Given the description of an element on the screen output the (x, y) to click on. 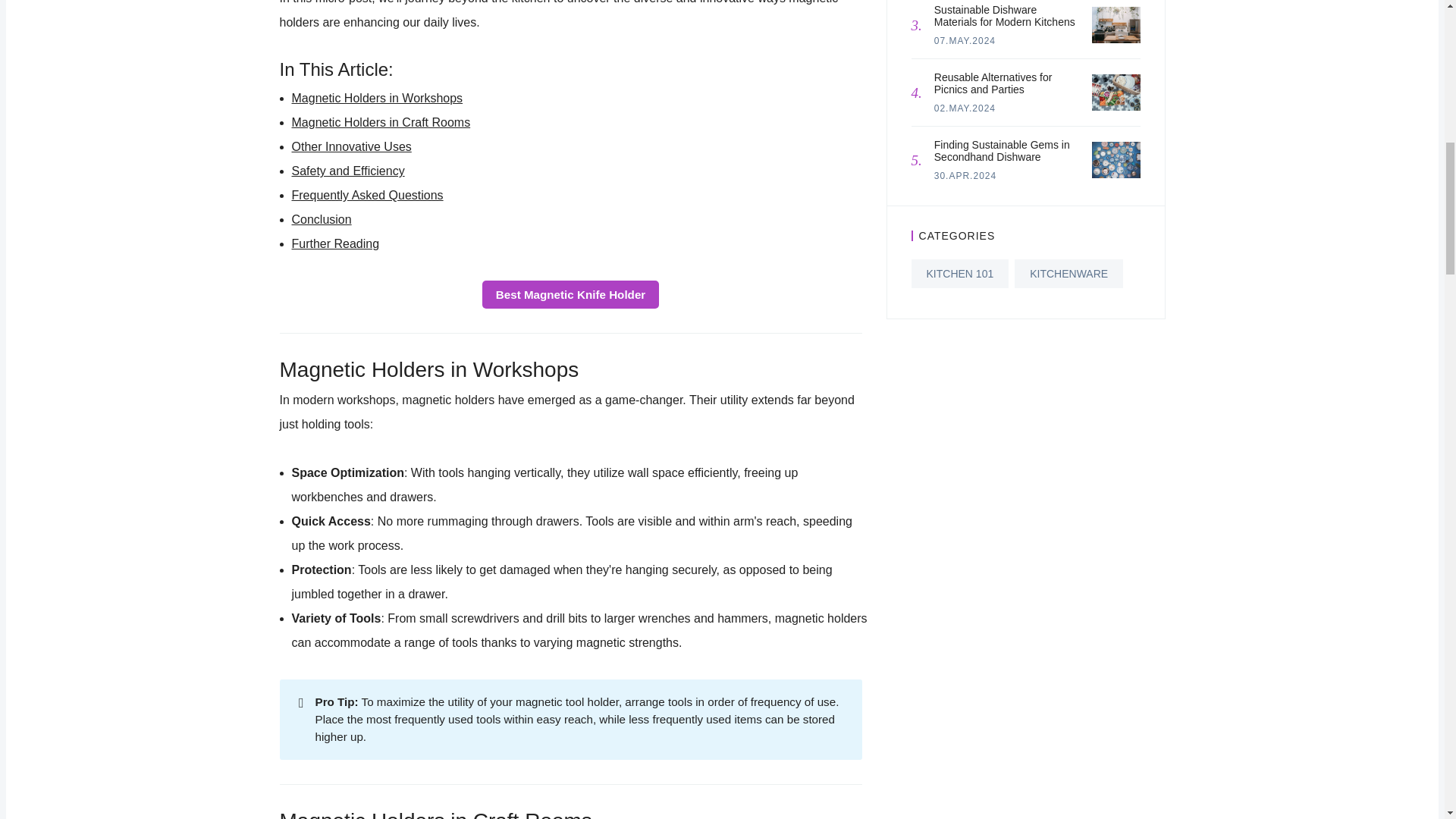
Frequently Asked Questions (366, 195)
Sustainable Dishware Materials for Modern Kitchens (1116, 24)
Best Magnetic Knife Holder (570, 293)
Magnetic Holders in Craft Rooms (380, 122)
Magnetic Holders in Workshops (377, 97)
Other Innovative Uses (350, 146)
Finding Sustainable Gems in Secondhand Dishware (1116, 159)
30 April 2024 (964, 175)
Further Reading (334, 243)
Safety and Efficiency (347, 170)
Reusable Alternatives for Picnics and Parties (1116, 92)
Conclusion (320, 219)
02 May 2024 (964, 108)
07 May 2024 (964, 40)
